Given the description of an element on the screen output the (x, y) to click on. 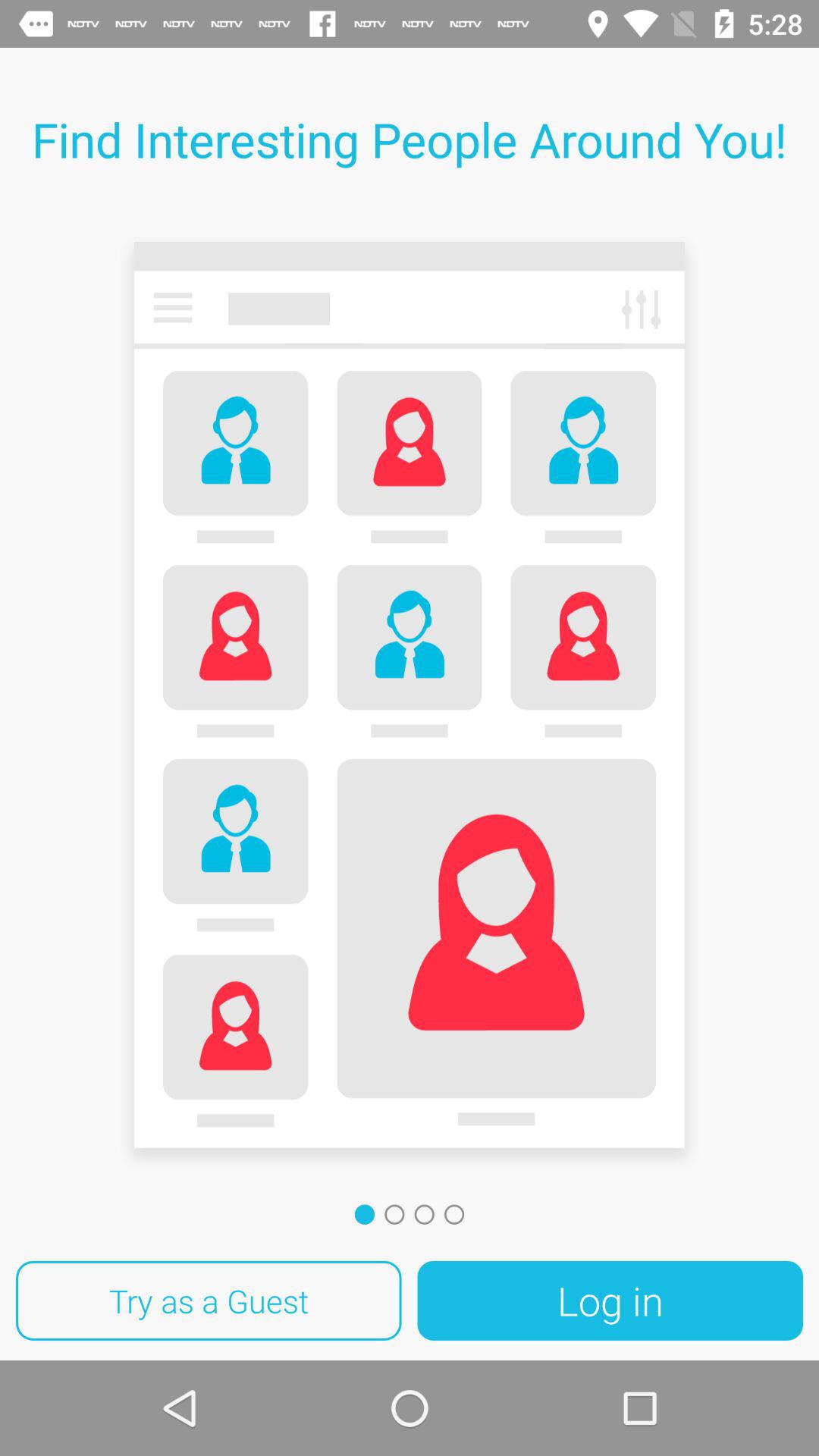
tap item next to try as a icon (610, 1300)
